Given the description of an element on the screen output the (x, y) to click on. 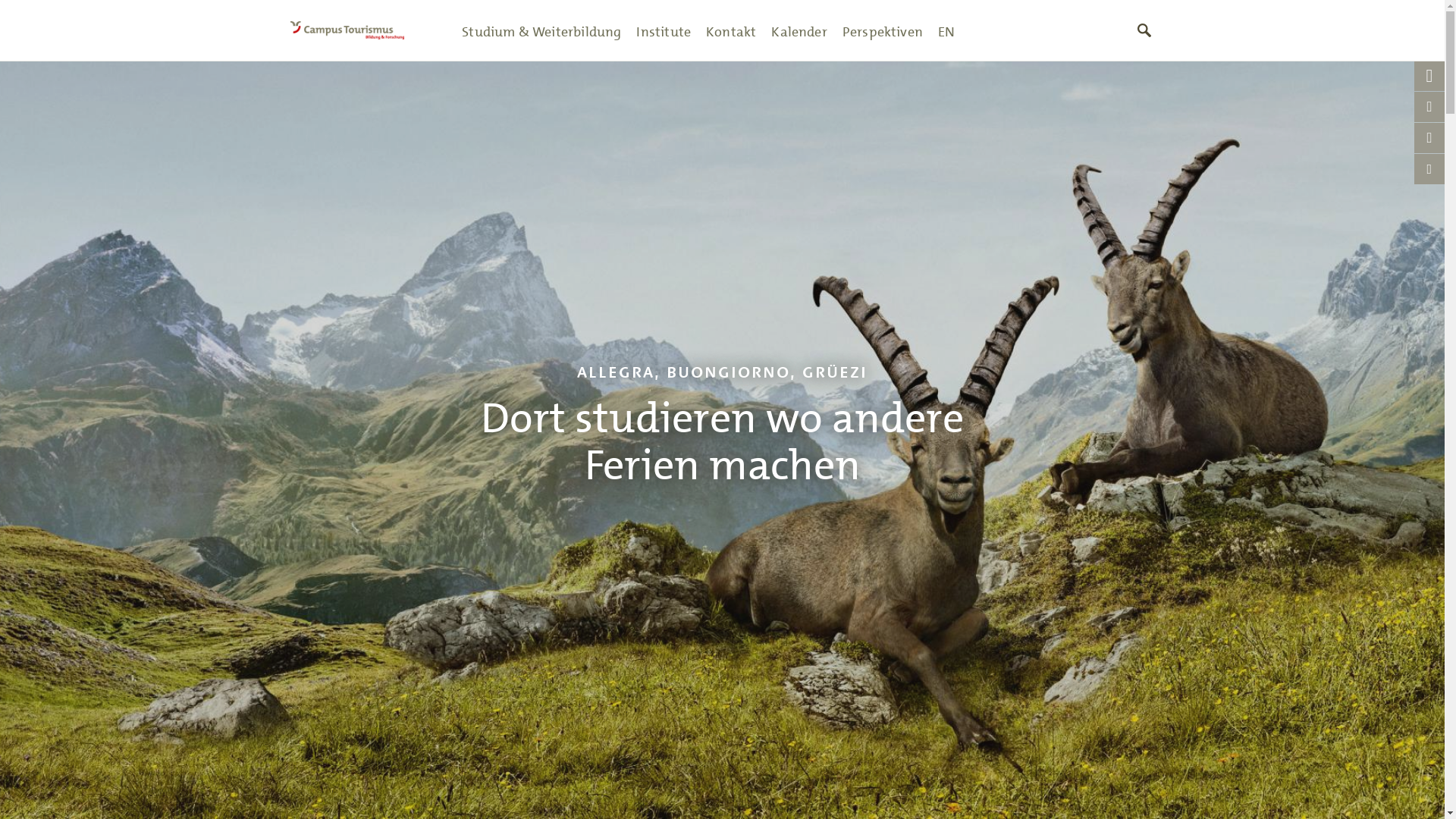
EN Element type: text (946, 29)
Perspektiven Element type: text (882, 29)
Direkt zum Inhalt Element type: text (54, 60)
Studium & Weiterbildung Element type: text (541, 29)
Bei Twitter teilen Element type: hover (1429, 75)
Bei Google+ teilen Element type: hover (1429, 137)
Institute Element type: text (663, 29)
Kontakt Element type: text (730, 29)
Per E-Mail versenden Element type: hover (1429, 168)
Bei Facebook teilen Element type: hover (1429, 106)
Kalender Element type: text (798, 29)
Startseite Element type: hover (362, 30)
